Given the description of an element on the screen output the (x, y) to click on. 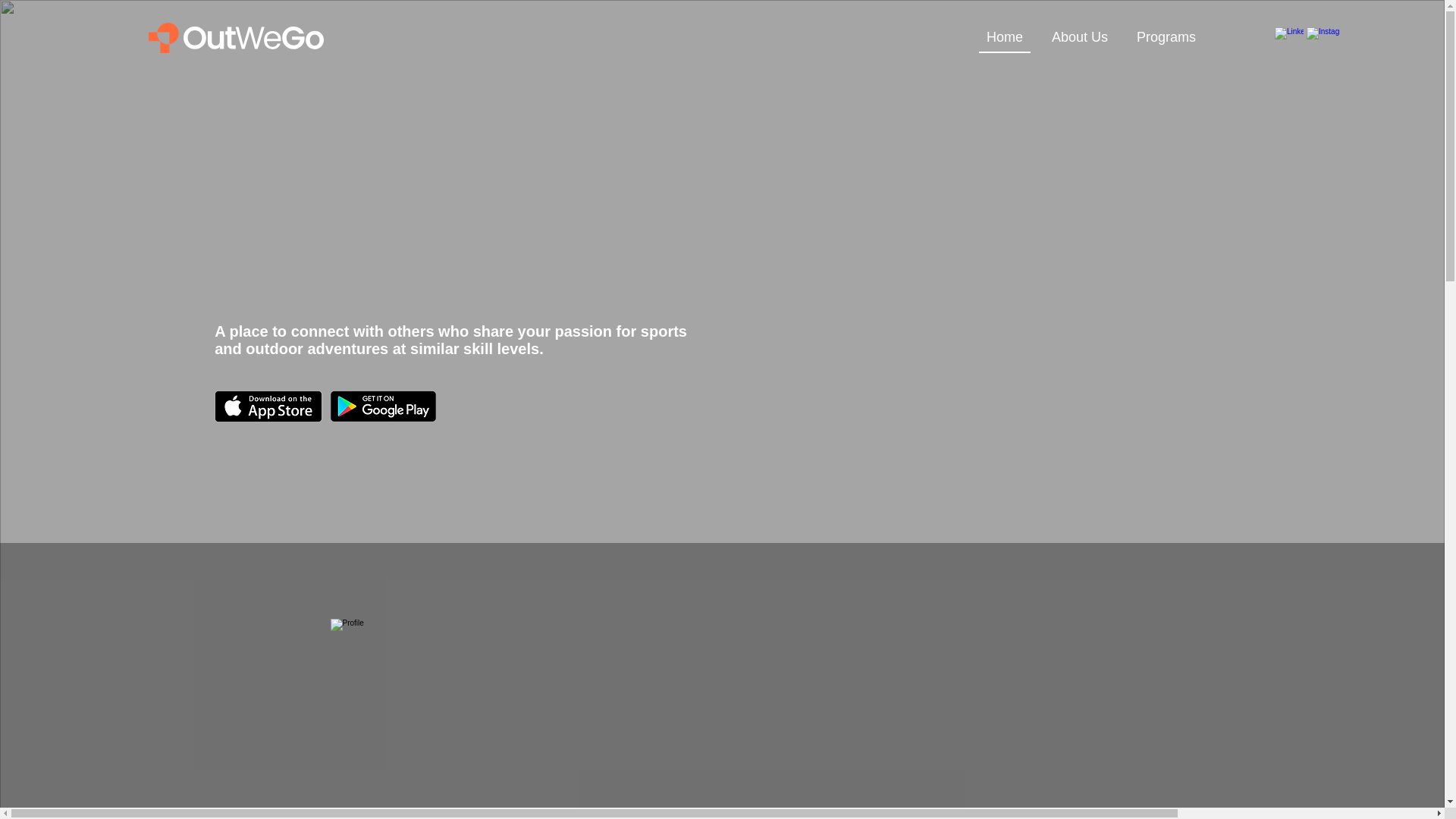
Profile (458, 719)
Home (1004, 37)
About Us (1079, 37)
Mission (1450, 61)
